Given the description of an element on the screen output the (x, y) to click on. 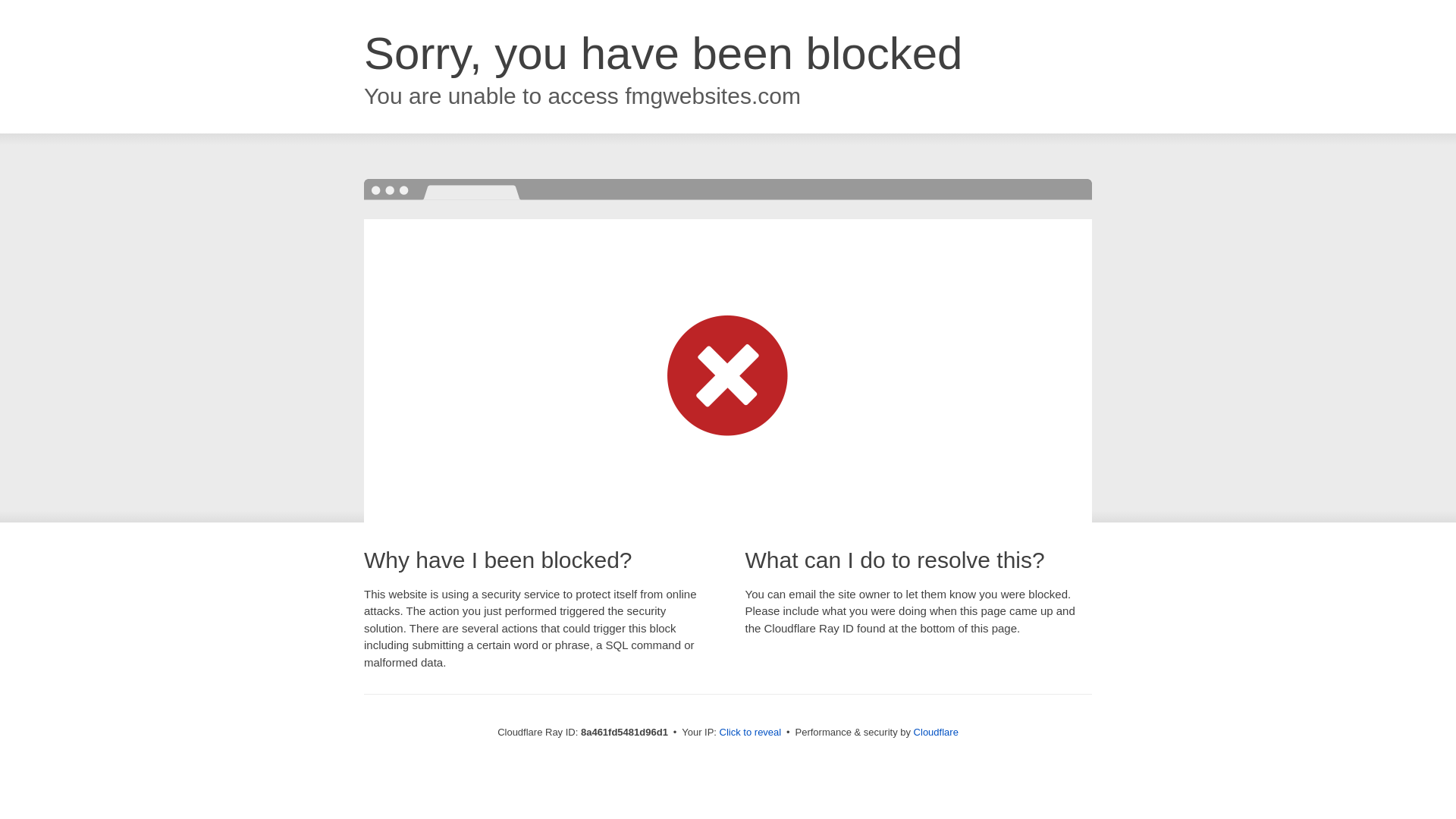
Cloudflare (936, 731)
Click to reveal (750, 732)
